Given the description of an element on the screen output the (x, y) to click on. 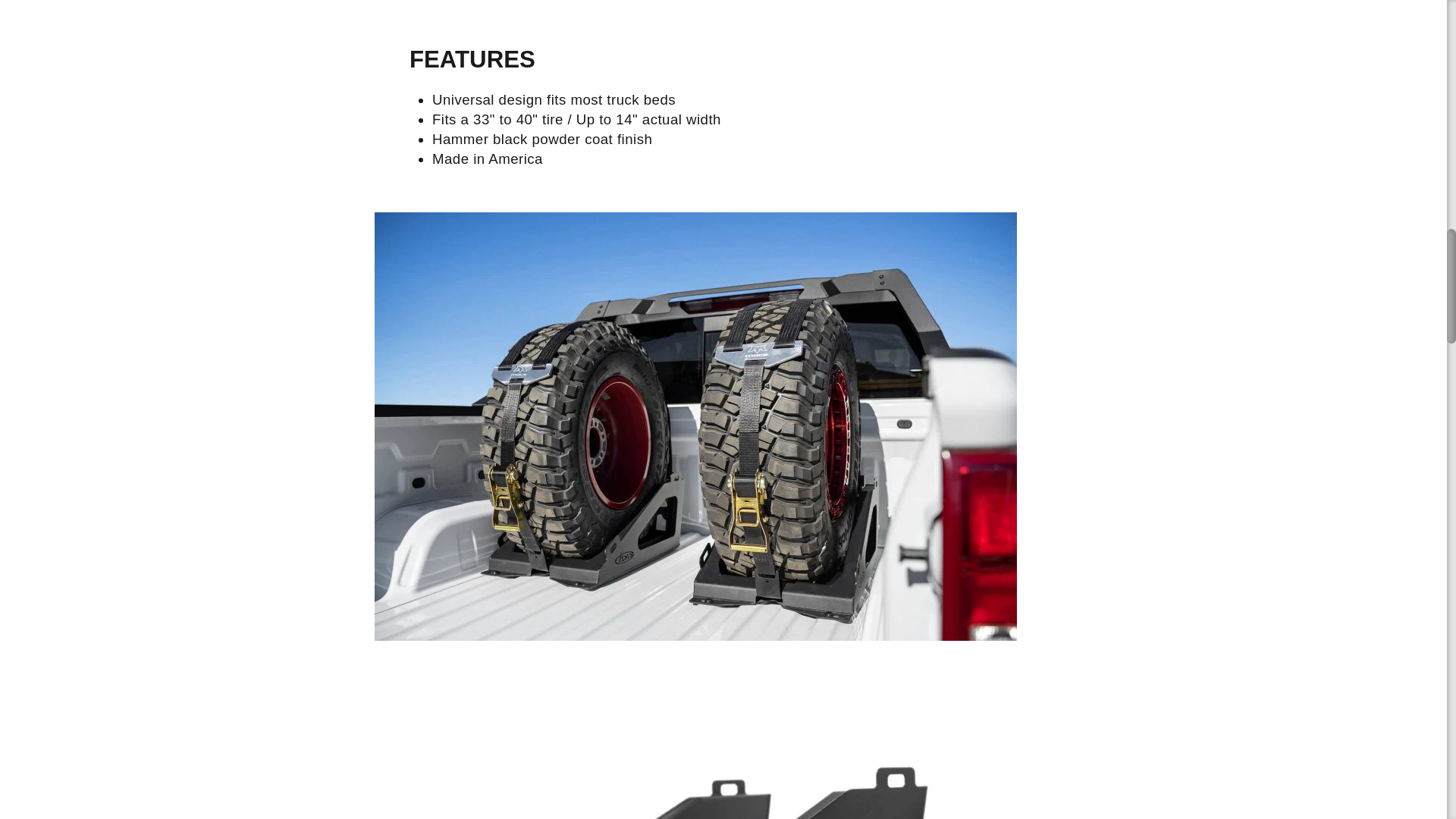
Universal truck bed tire carrier (695, 748)
Universal truck bed tire carrier (695, 635)
